Given the description of an element on the screen output the (x, y) to click on. 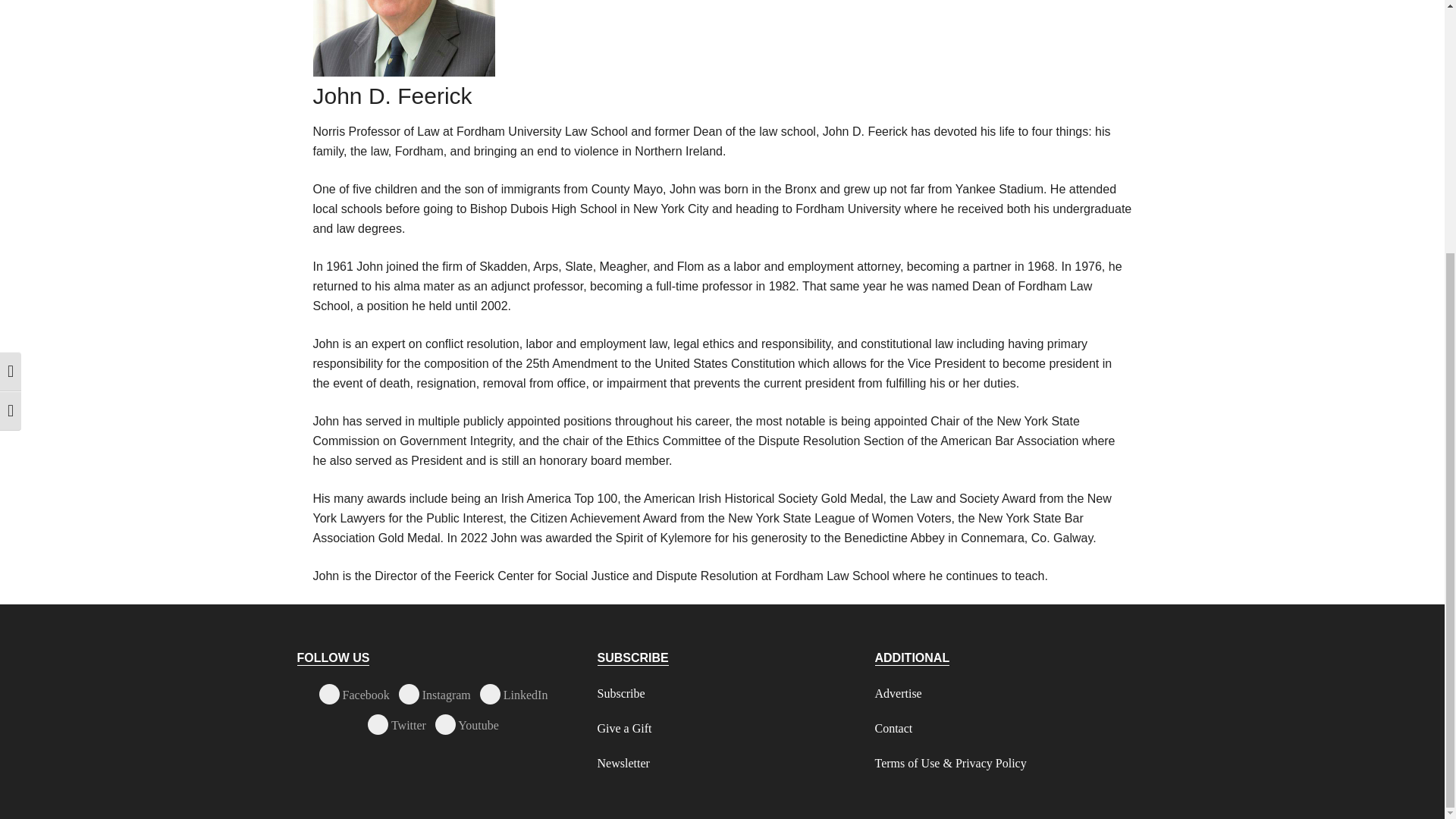
Give a Gift (624, 727)
Contact (893, 727)
Newsletter (622, 762)
Subscribe (620, 693)
Advertise (898, 693)
